Given the description of an element on the screen output the (x, y) to click on. 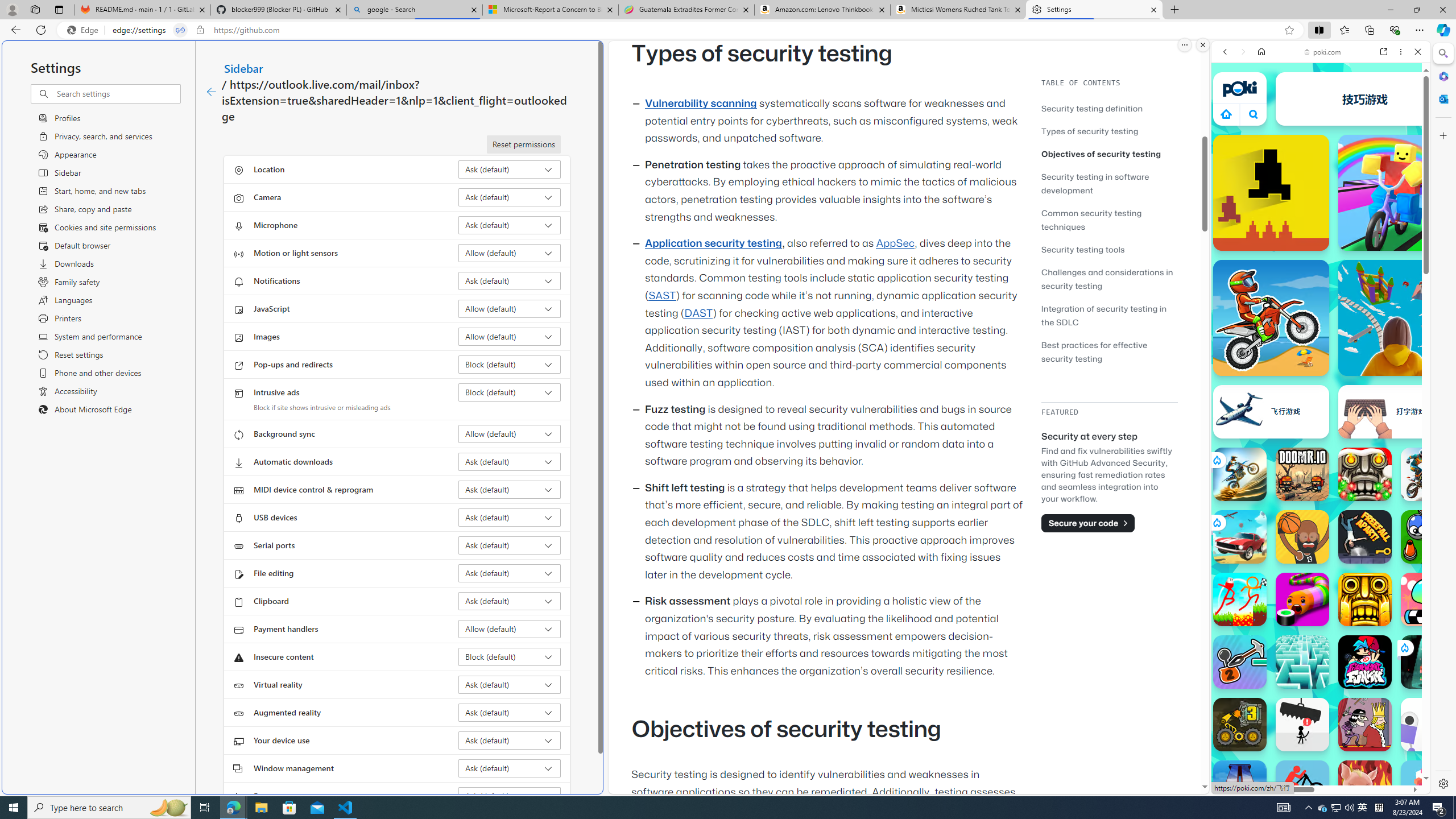
Blumgi Slime (1427, 599)
Rainbow Obby (1396, 192)
Odd Bot Out (1427, 724)
Types of security testing (1109, 130)
Types of security testing (1089, 130)
DAST (698, 312)
Motion or light sensors Allow (default) (509, 253)
Show More Shooting Games (1390, 296)
